Given the description of an element on the screen output the (x, y) to click on. 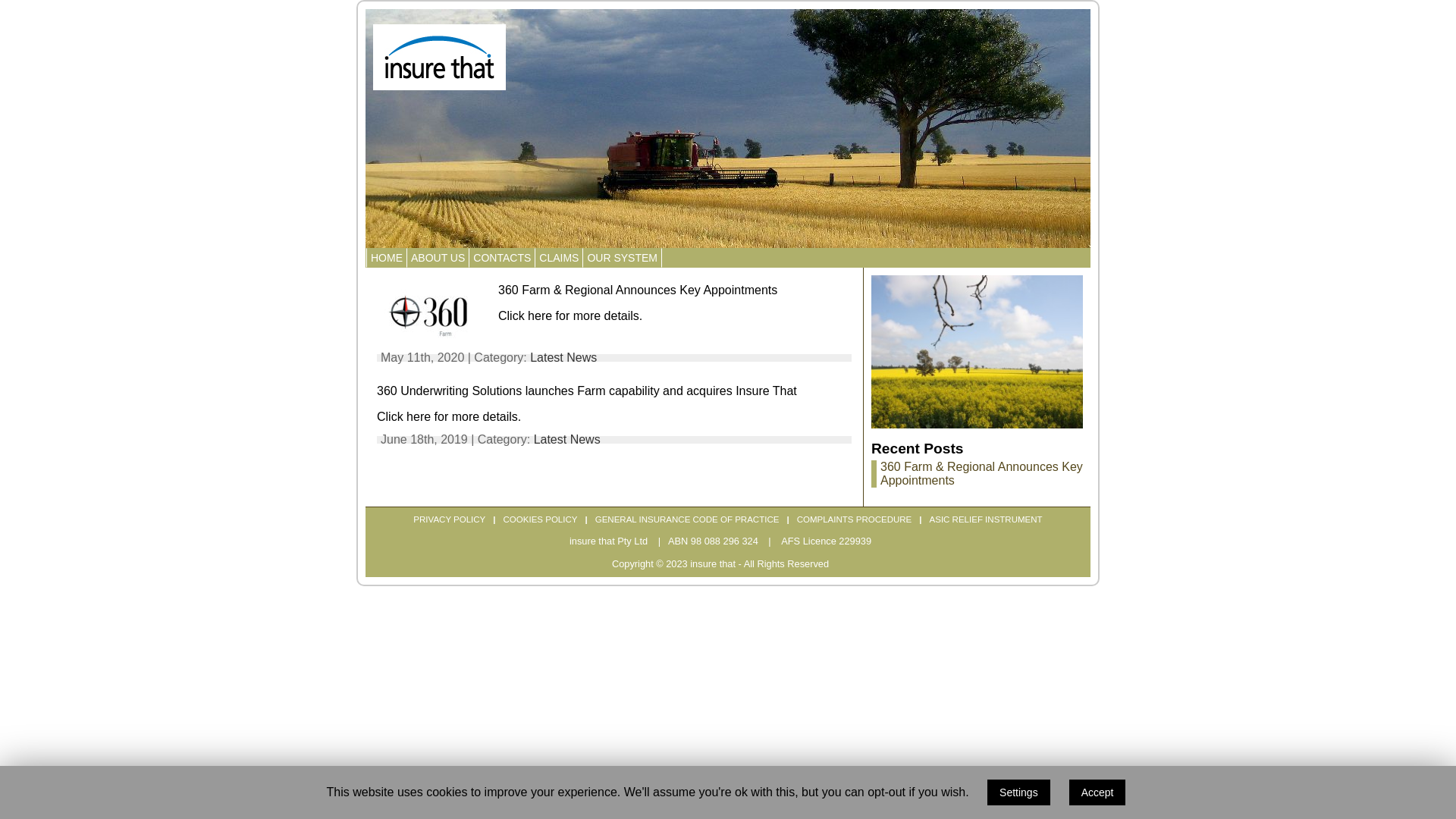
ASIC RELIEF INSTRUMENT Element type: text (985, 519)
Latest News Element type: text (566, 439)
HOME Element type: text (386, 257)
COOKIES POLICY Element type: text (540, 519)
OUR SYSTEM Element type: text (622, 257)
CLAIMS Element type: text (558, 257)
PRIVACY POLICY Element type: text (449, 519)
ABOUT US Element type: text (437, 257)
CONTACTS Element type: text (501, 257)
Settings Element type: text (1018, 792)
COMPLAINTS PROCEDURE Element type: text (854, 519)
Accept Element type: text (1097, 792)
360 Farm & Regional Announces Key Appointments Element type: text (981, 473)
Latest News Element type: text (563, 357)
GENERAL INSURANCE CODE OF PRACTICE Element type: text (687, 519)
